Given the description of an element on the screen output the (x, y) to click on. 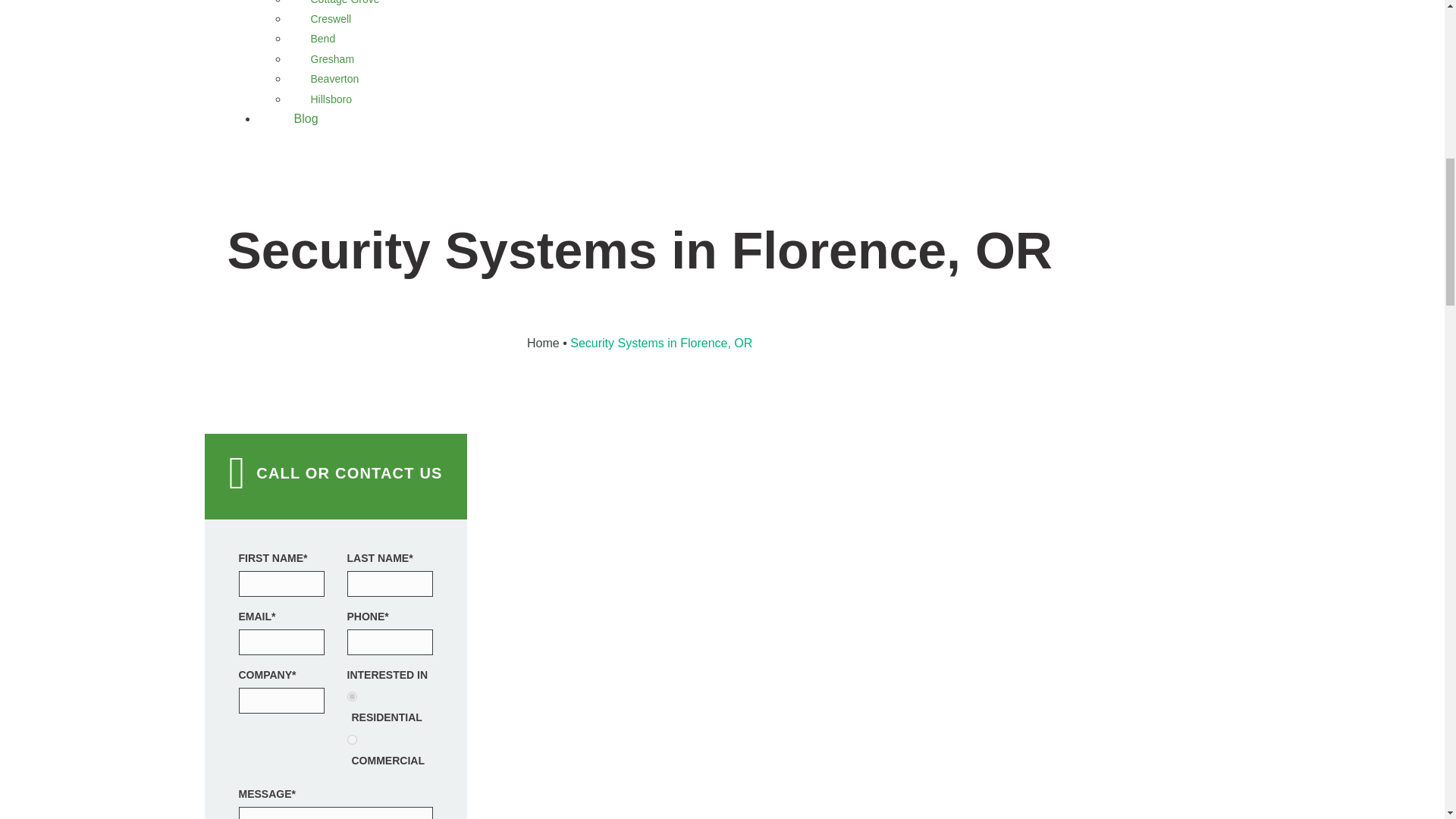
Commercial (351, 739)
Residential (351, 696)
